Given the description of an element on the screen output the (x, y) to click on. 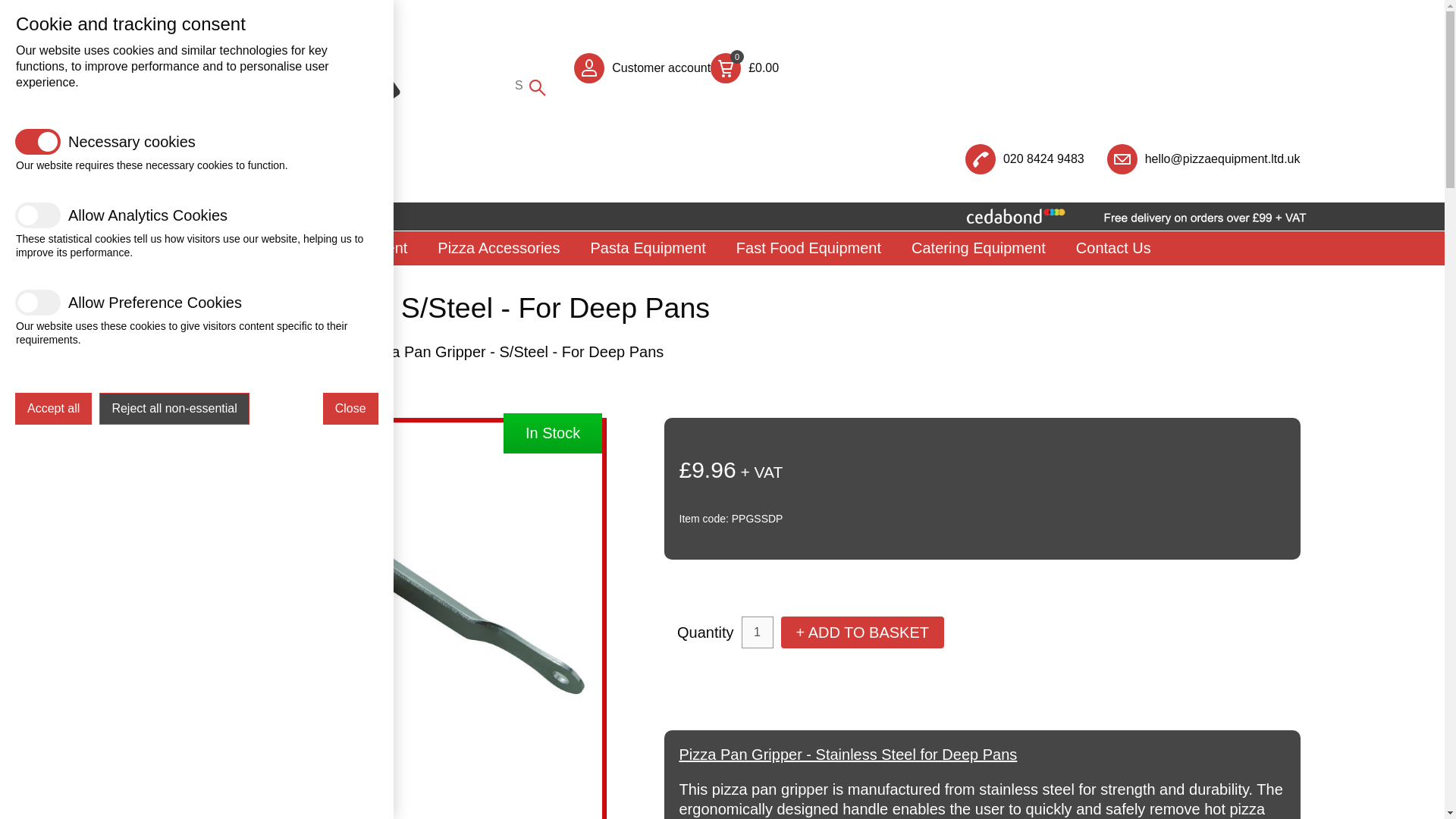
1 (757, 632)
Pizza Equipment (350, 247)
Pizza Accessories (498, 247)
Customer account (660, 67)
